Given the description of an element on the screen output the (x, y) to click on. 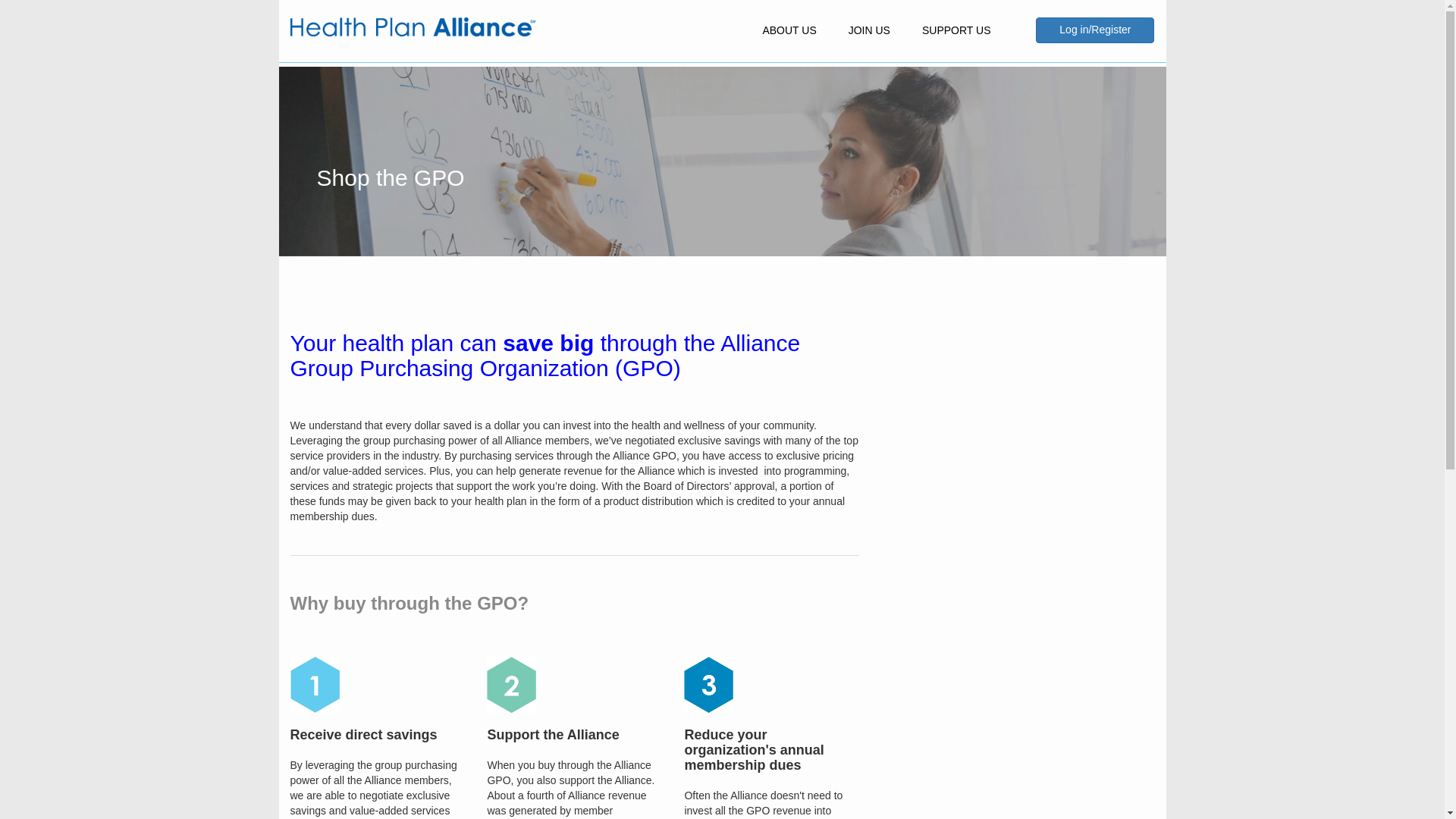
JOIN US (868, 30)
ABOUT US (788, 30)
SUPPORT US (956, 30)
